Given the description of an element on the screen output the (x, y) to click on. 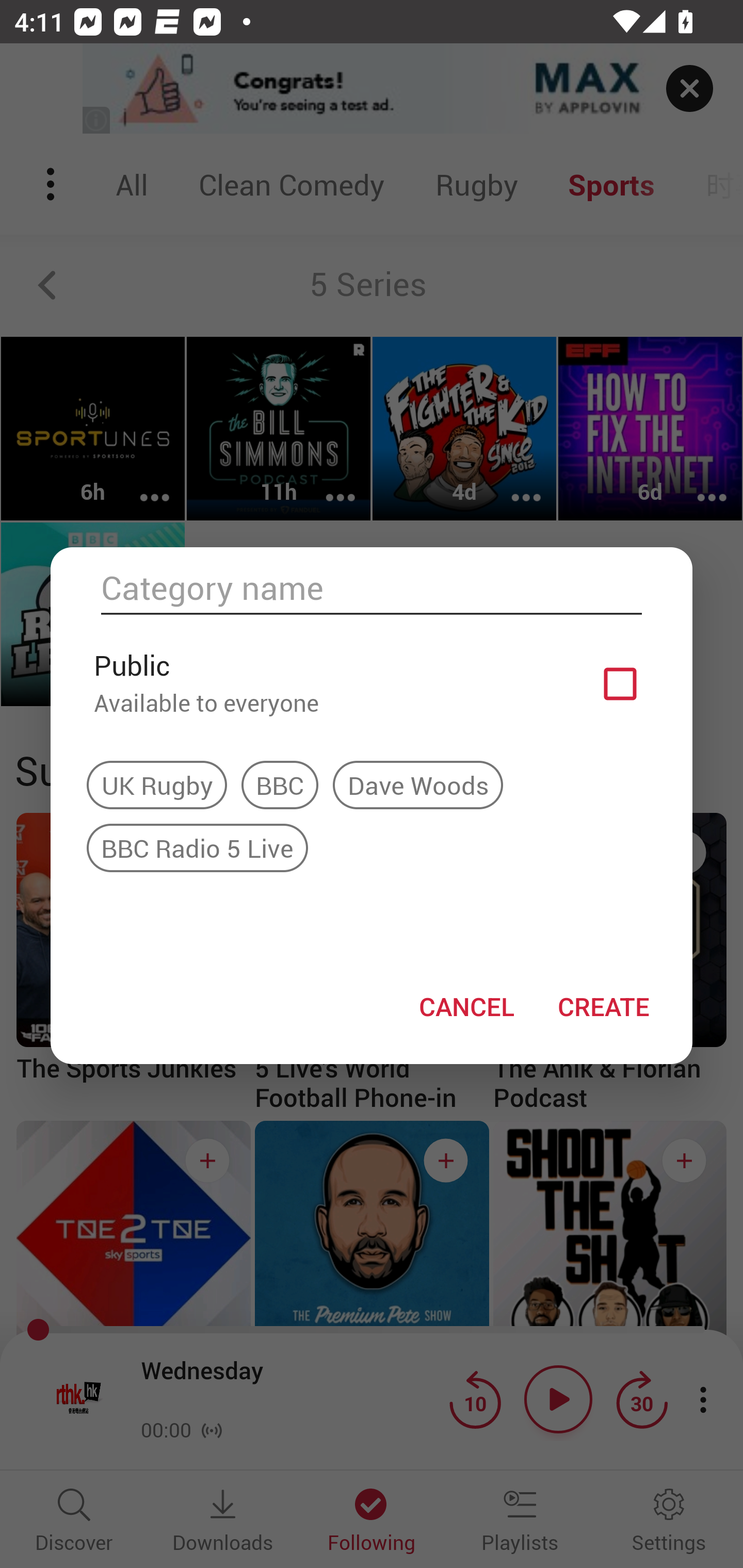
Category name (371, 587)
Public Available to everyone (371, 683)
UK Rugby (156, 784)
BBC (279, 784)
Dave Woods (417, 784)
BBC Radio 5 Live (197, 847)
CANCEL (465, 1005)
CREATE (602, 1005)
